Given the description of an element on the screen output the (x, y) to click on. 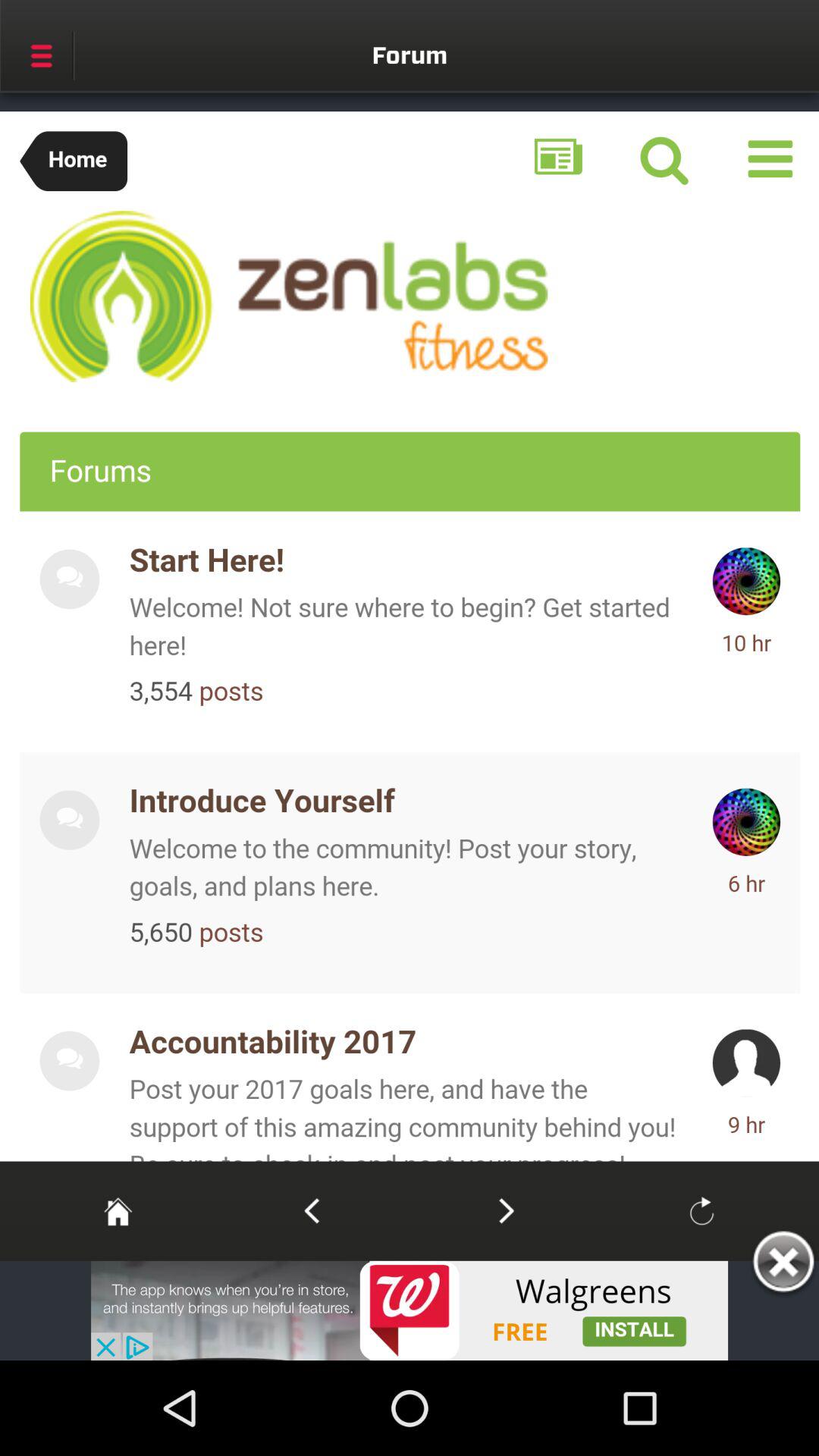
refresh page (701, 1210)
